Given the description of an element on the screen output the (x, y) to click on. 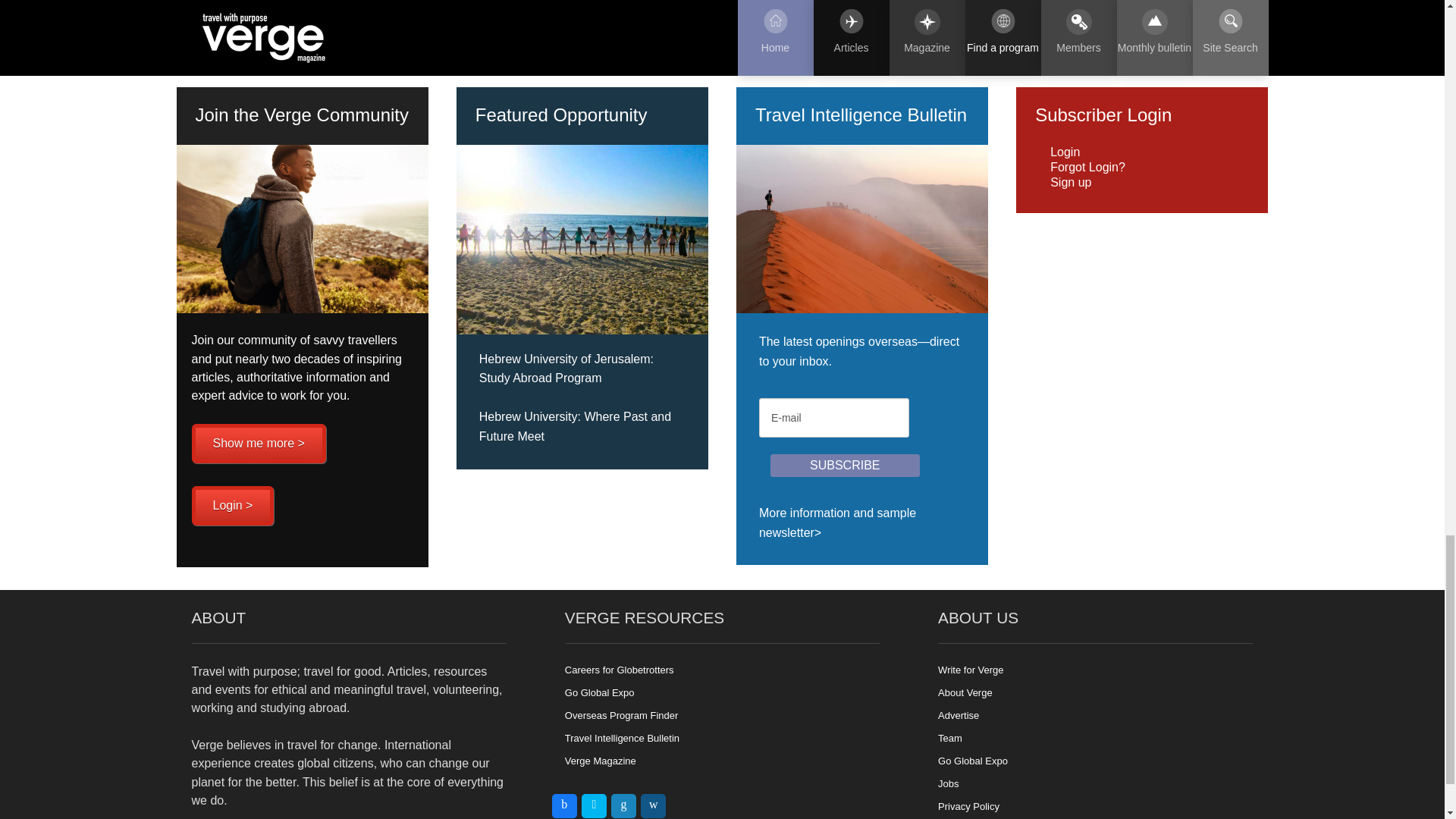
Subscribe (845, 465)
Login" (231, 505)
Show me more (257, 443)
E-mail (833, 417)
E-mail (833, 417)
